Given the description of an element on the screen output the (x, y) to click on. 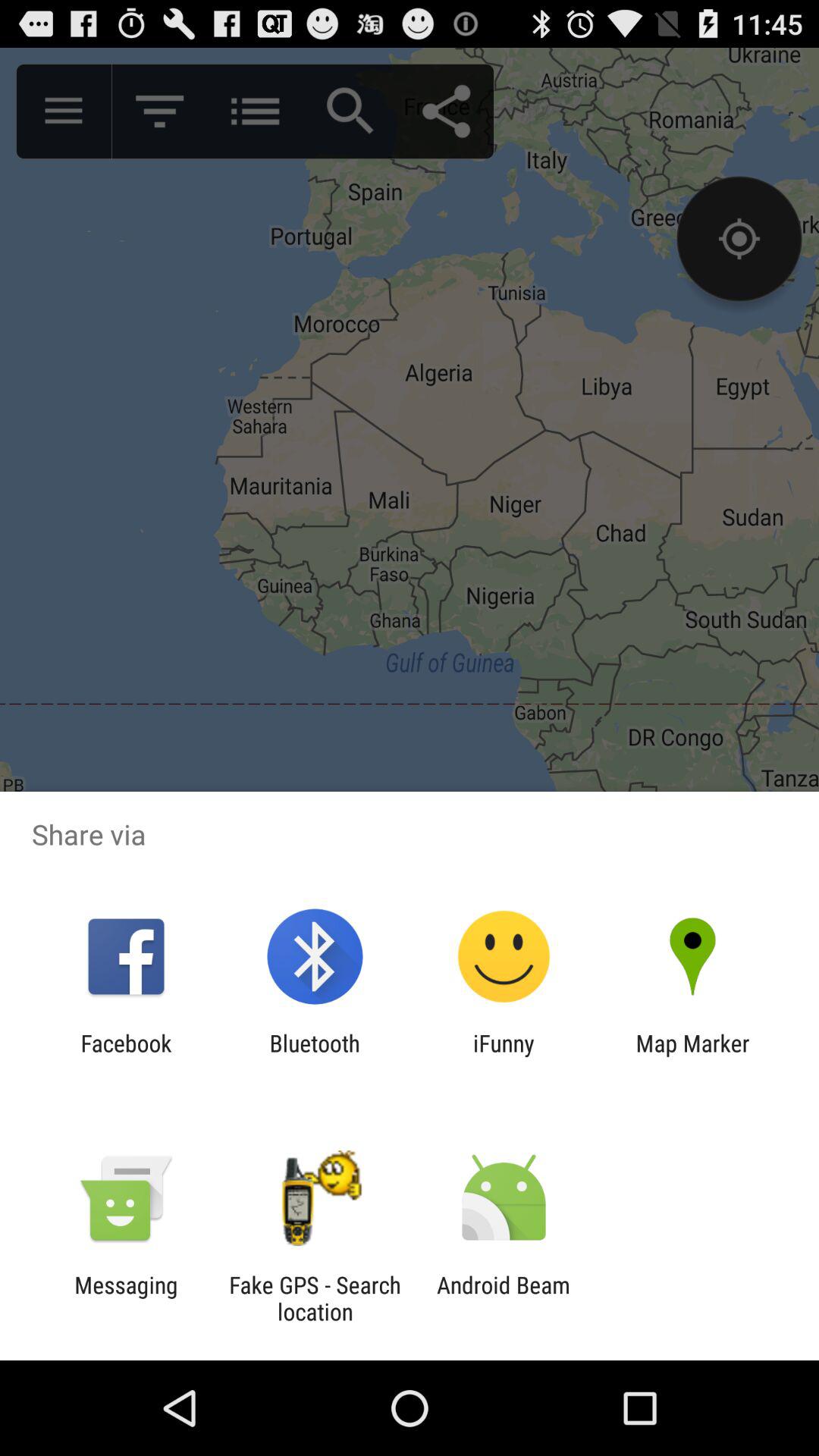
launch the facebook icon (125, 1056)
